Given the description of an element on the screen output the (x, y) to click on. 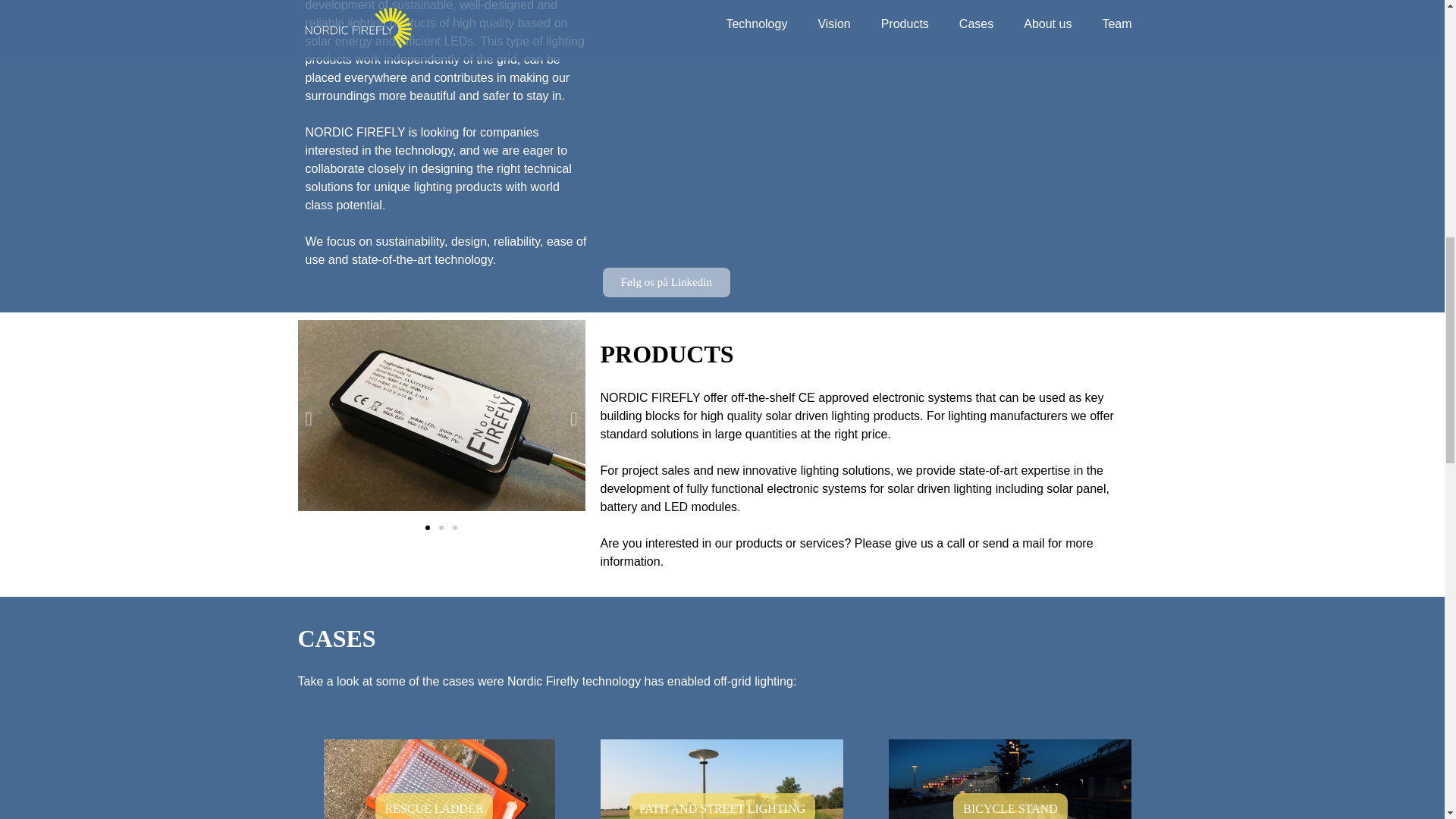
PATH AND STREET LIGHTING (721, 806)
BICYCLE STAND (1010, 806)
RESCUE LADDER (434, 806)
